Given the description of an element on the screen output the (x, y) to click on. 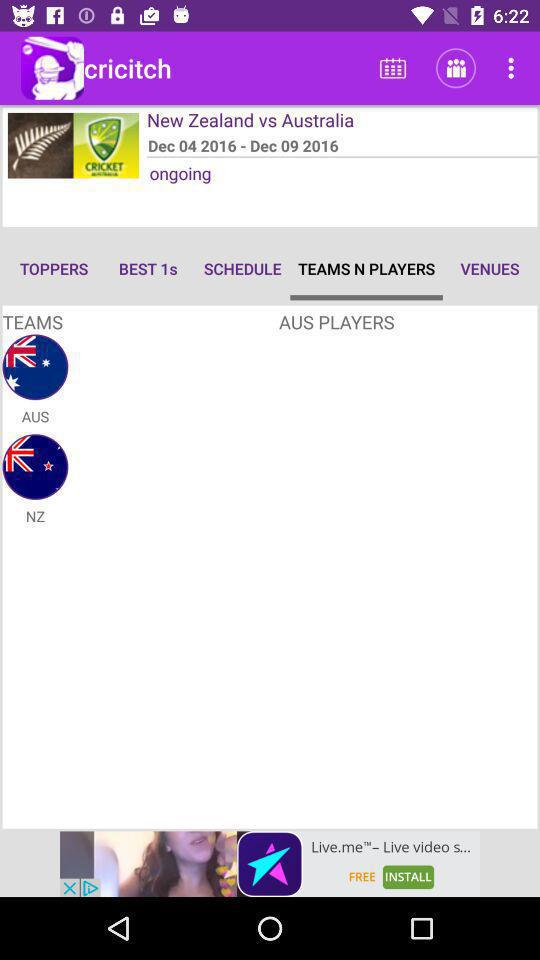
open advertisement (270, 864)
